Given the description of an element on the screen output the (x, y) to click on. 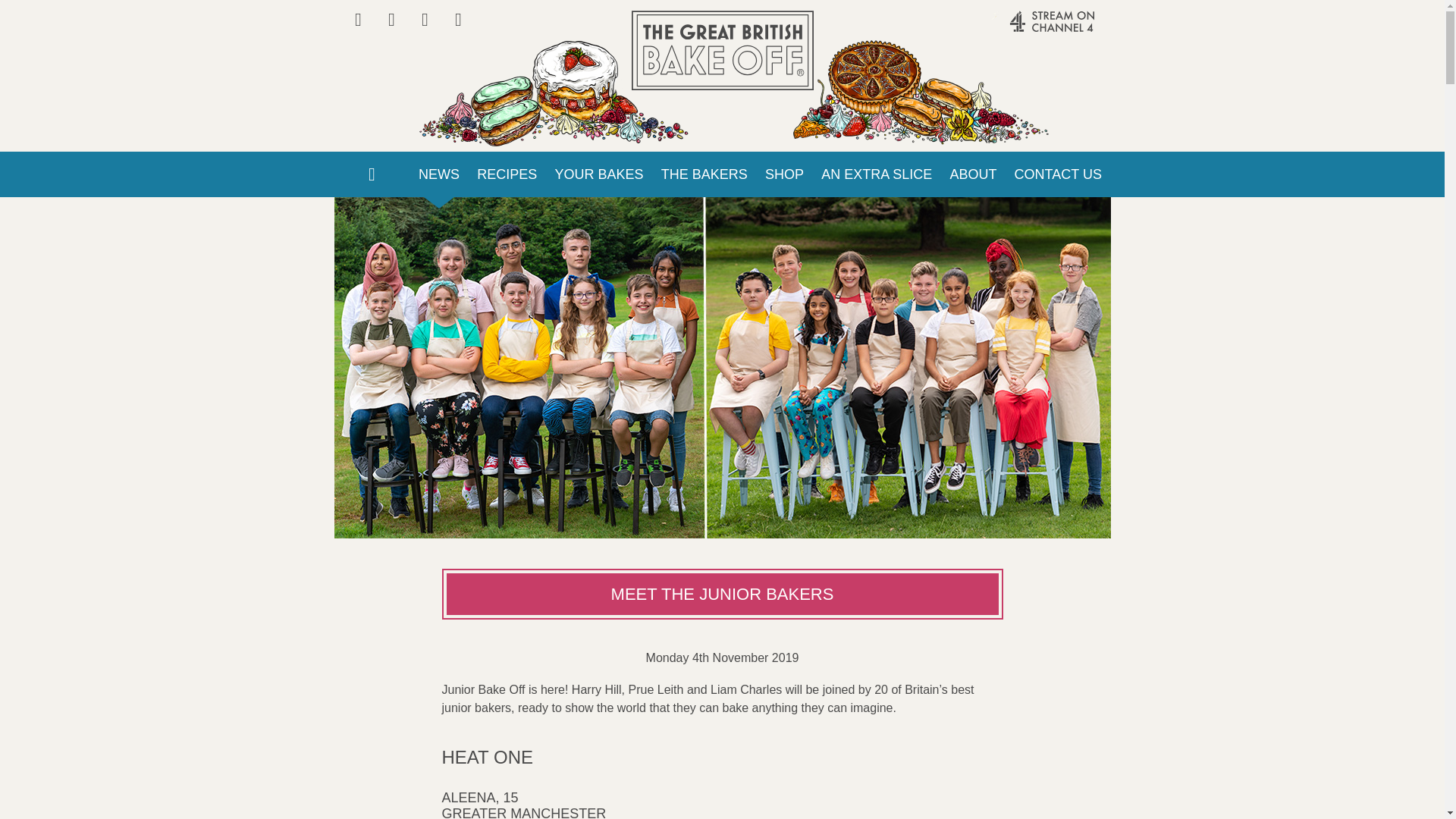
CONTACT US (1058, 174)
The Great British Bake Off (721, 50)
RECIPES (507, 174)
STREAM ON CHANNEL 4 (1021, 29)
SHOP (783, 174)
YOUR BAKES (599, 174)
HOME (371, 174)
ABOUT (973, 174)
AN EXTRA SLICE (876, 174)
NEWS (438, 174)
THE BAKERS (703, 174)
